Given the description of an element on the screen output the (x, y) to click on. 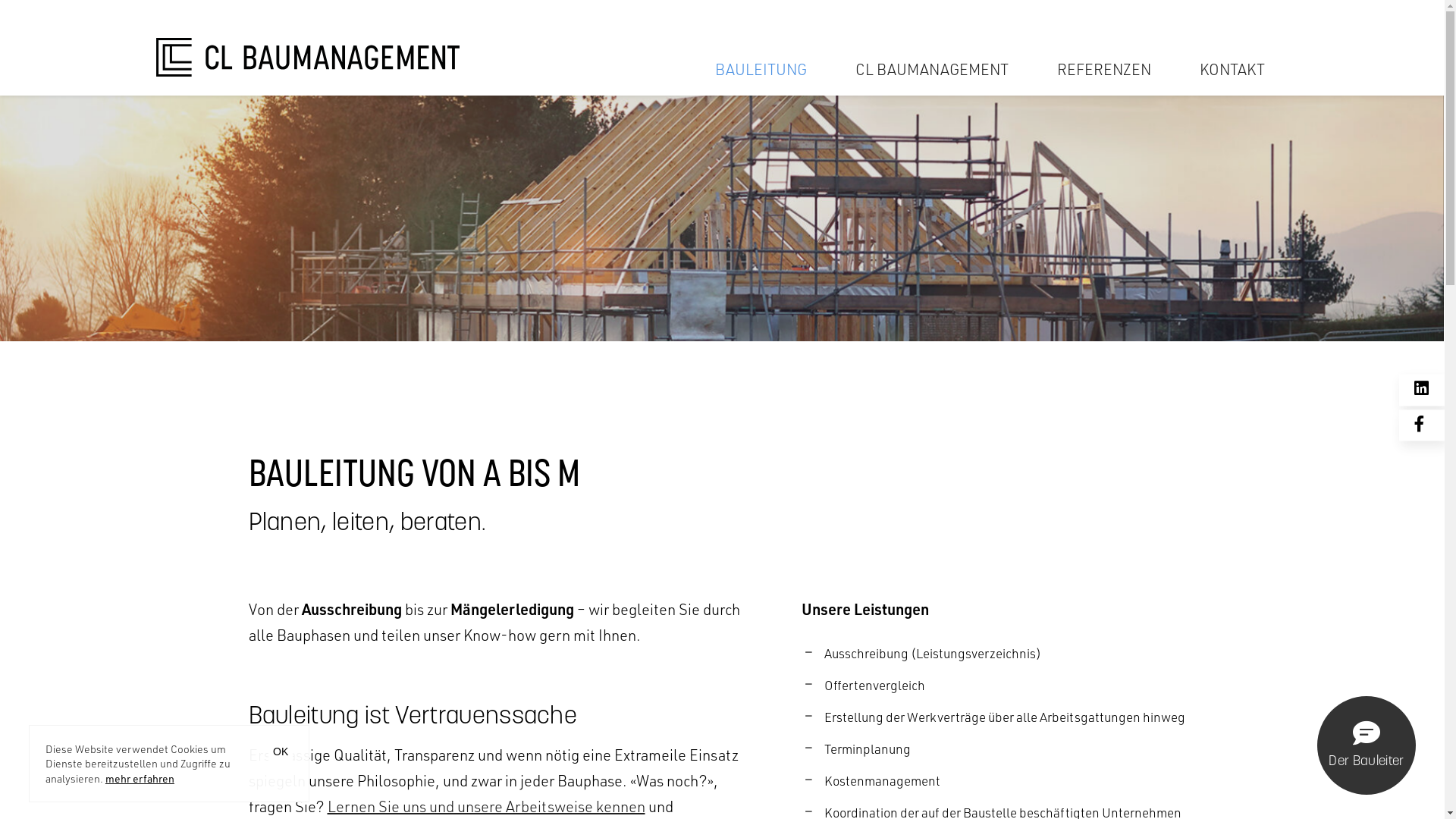
mehr erfahren Element type: text (139, 774)
Lernen Sie uns und unsere Arbeitsweise kennen Element type: text (486, 805)
BAULEITUNG Element type: text (760, 68)
KONTAKT Element type: text (1232, 68)
OK Element type: text (280, 751)
CL BAUMANAGEMENT Element type: text (931, 68)
Der Bauleiter Element type: text (1366, 745)
REFERENZEN Element type: text (1103, 68)
